Given the description of an element on the screen output the (x, y) to click on. 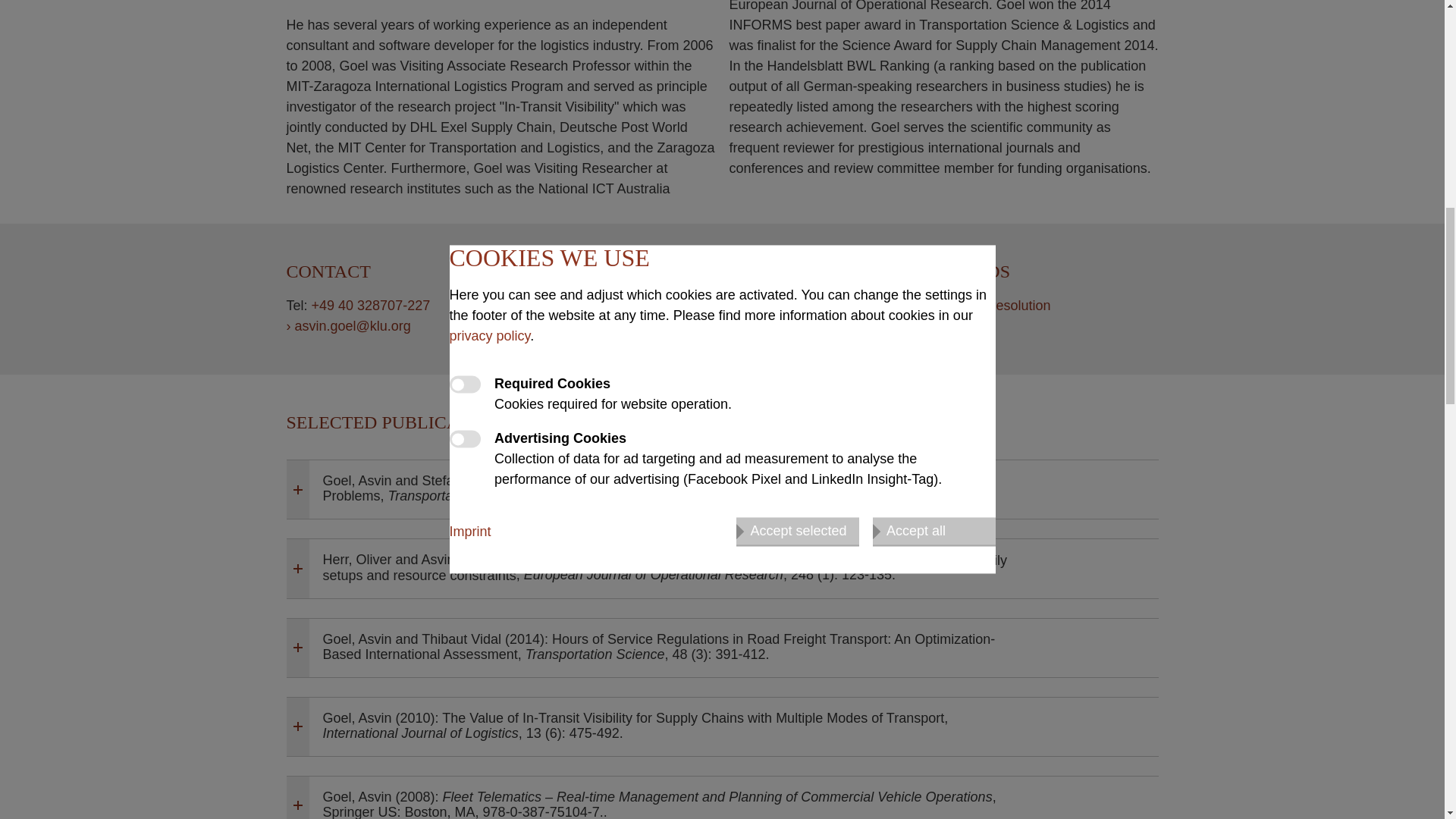
Photos in high resolution (970, 305)
Google Scholar (600, 306)
Facebook (631, 306)
